Given the description of an element on the screen output the (x, y) to click on. 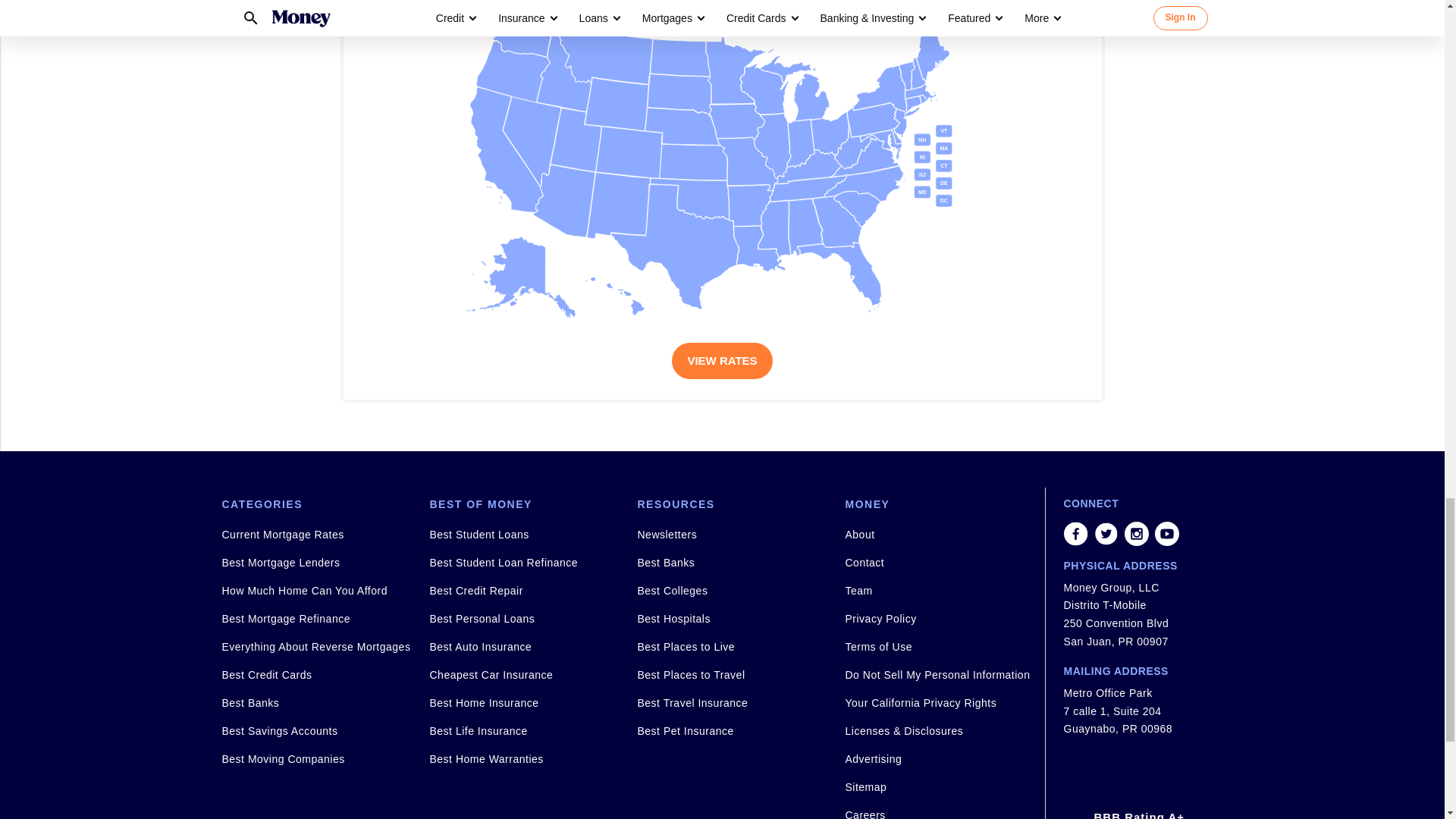
instagram share (1136, 533)
youtube share (1165, 533)
facebook share (1074, 533)
